Given the description of an element on the screen output the (x, y) to click on. 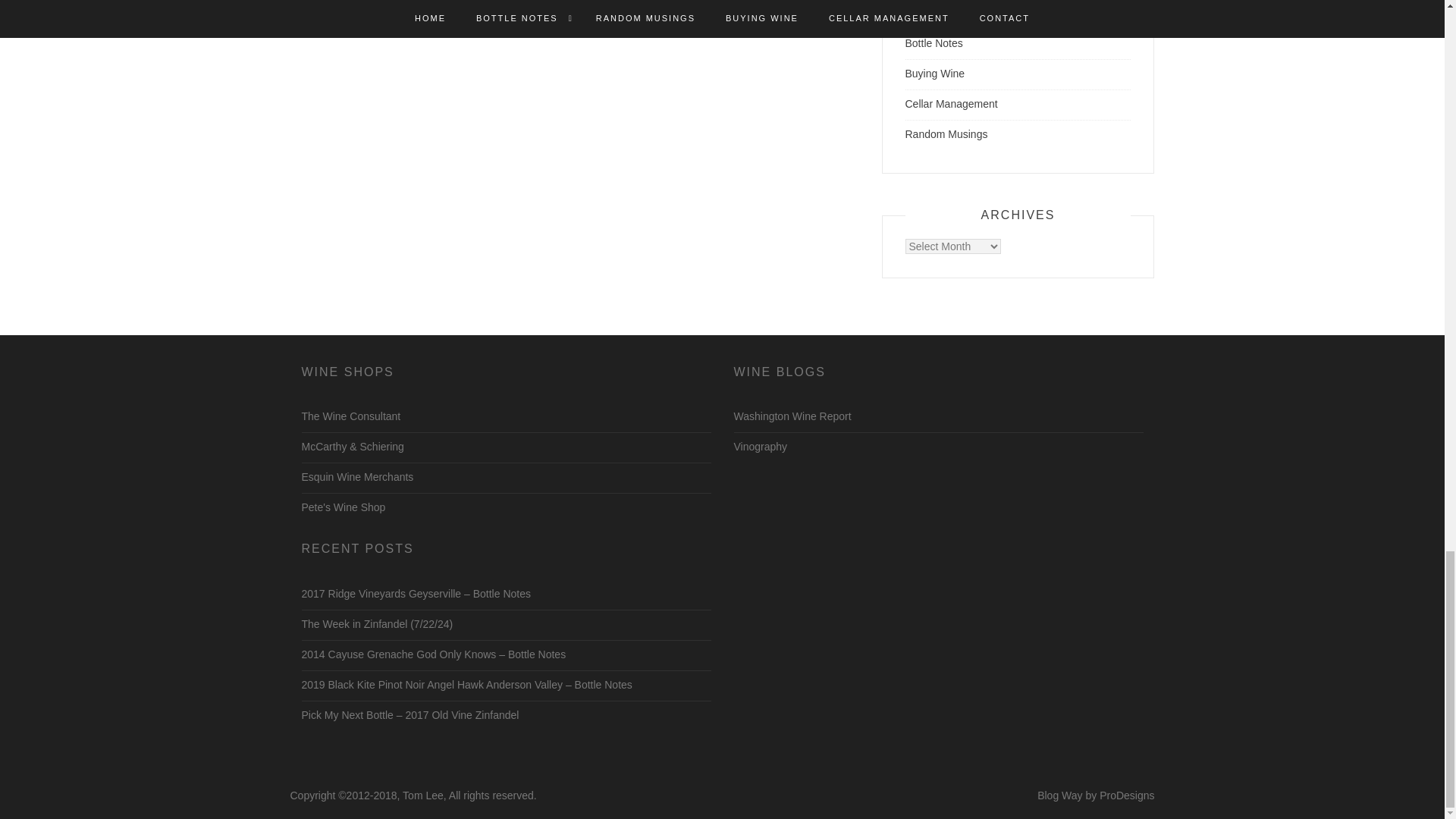
The Wine Consultant (351, 416)
Esquin (357, 476)
